Given the description of an element on the screen output the (x, y) to click on. 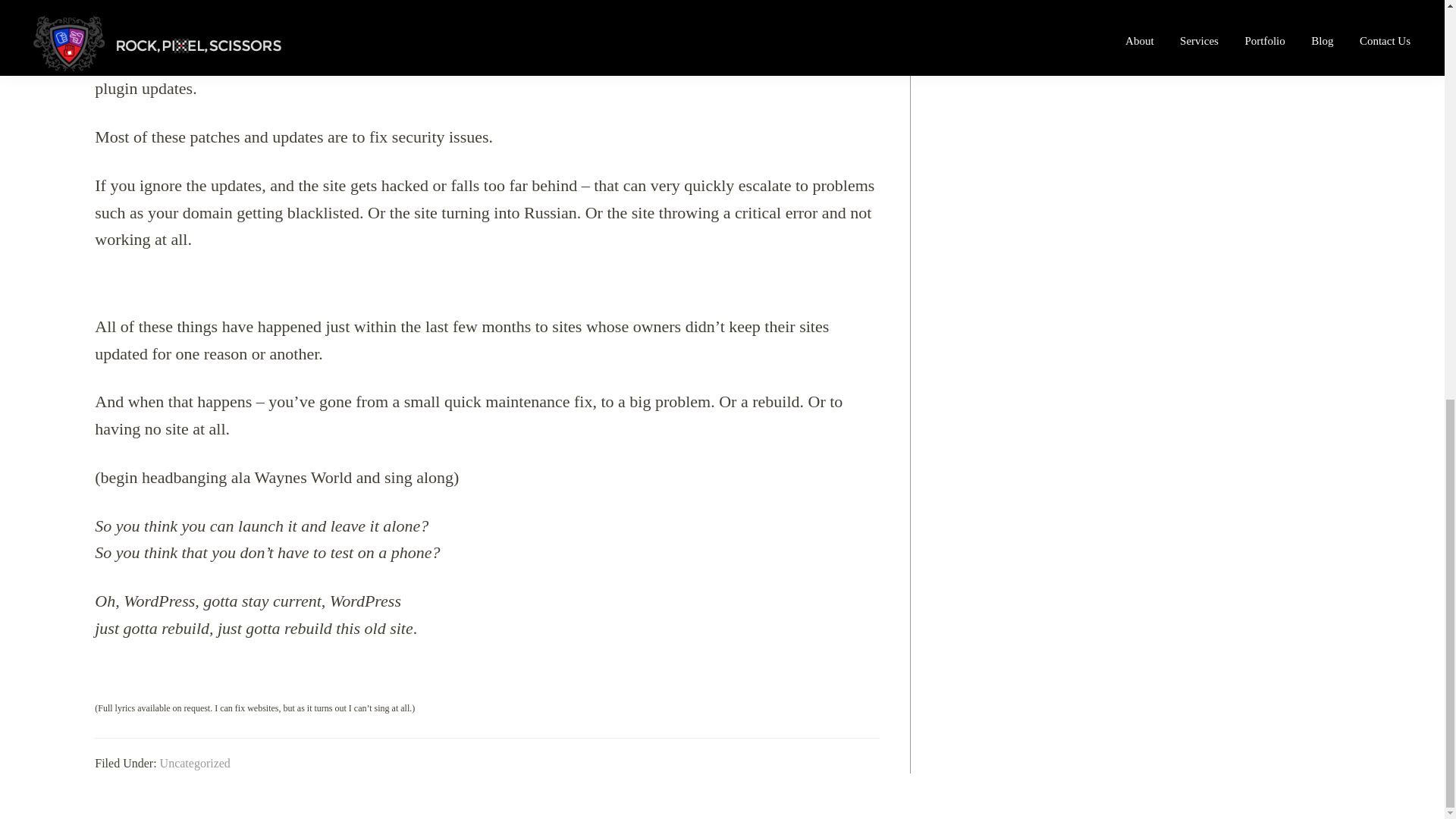
Uncategorized (195, 762)
We can help you with that (686, 13)
